Given the description of an element on the screen output the (x, y) to click on. 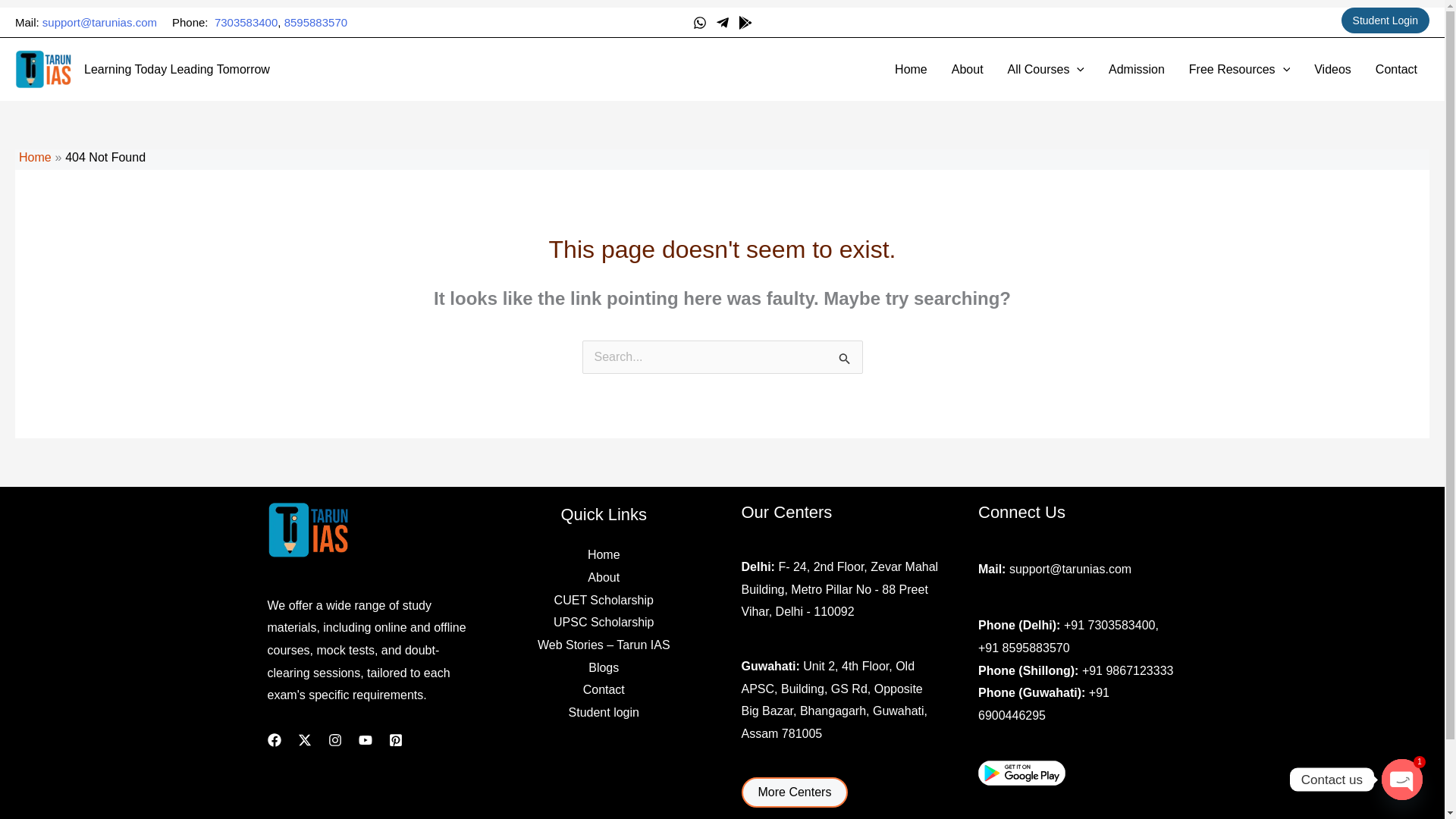
7303583400 (246, 21)
All Courses (1045, 68)
Home (34, 156)
Student Login (1384, 20)
Admission (1136, 68)
Videos (1331, 68)
About (967, 68)
Home (910, 68)
Contact (1395, 68)
8595883570 (315, 21)
